Given the description of an element on the screen output the (x, y) to click on. 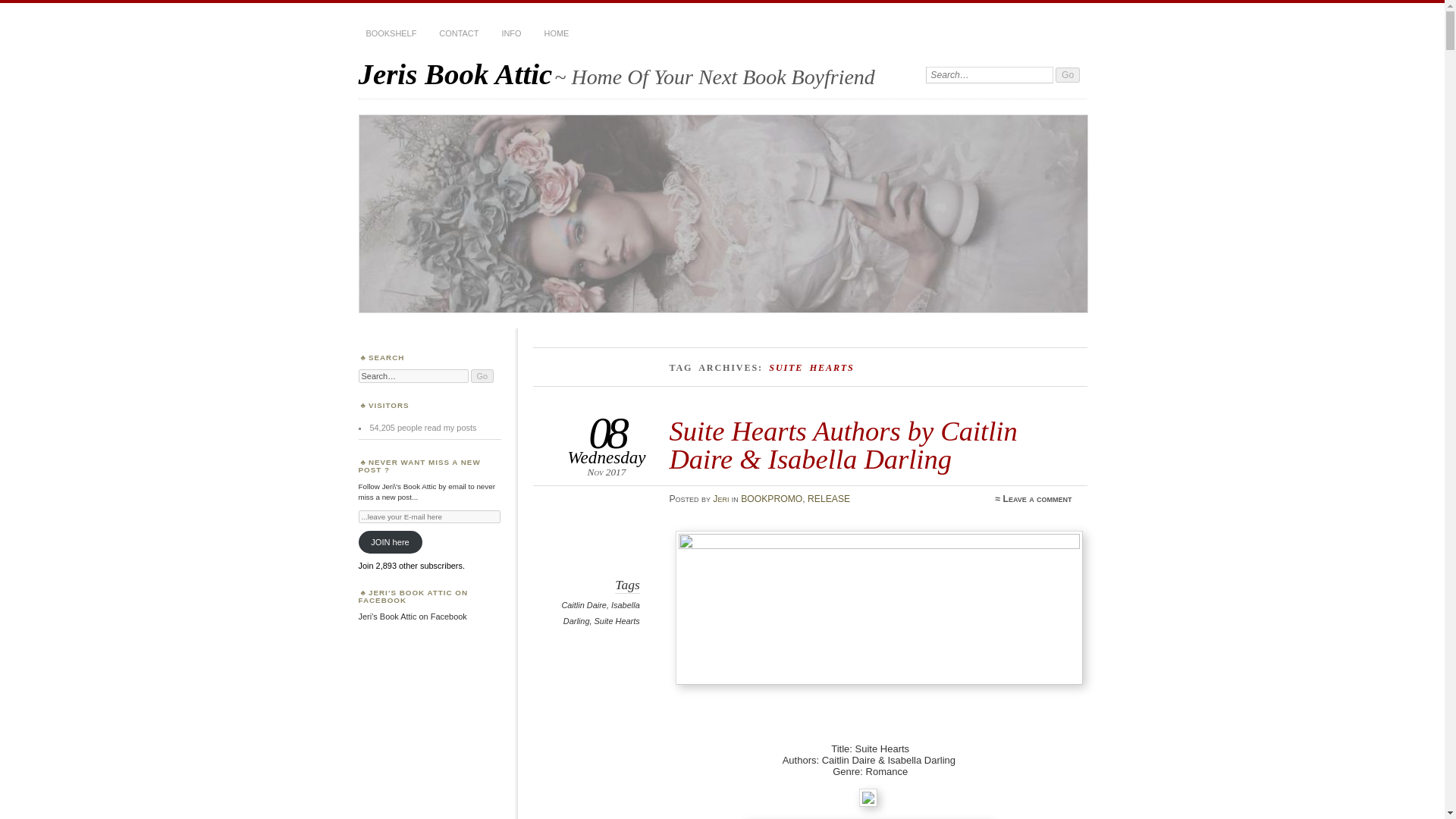
HOME (556, 33)
BOOKSHELF (390, 33)
RELEASE (829, 498)
Go (1067, 74)
Isabella Darling (601, 612)
Leave a comment (1037, 498)
Jeri (721, 498)
Caitlin Daire (583, 604)
Go (1067, 74)
View all posts by Jeri (721, 498)
INFO (510, 33)
Jeris Book Attic (454, 73)
Jeris Book Attic (454, 73)
CONTACT (458, 33)
BOOKPROMO (771, 498)
